Given the description of an element on the screen output the (x, y) to click on. 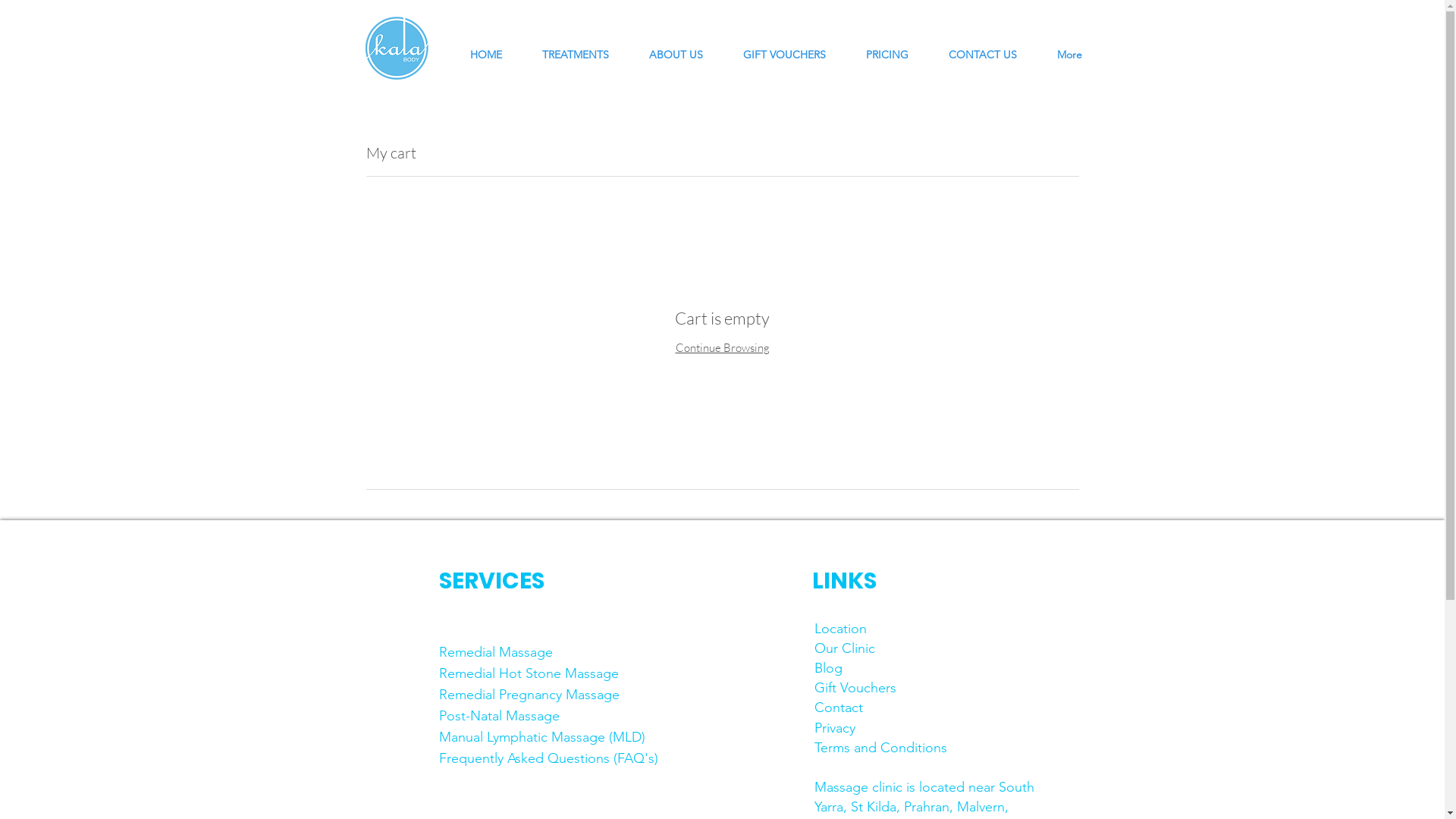
Remedial Massage Element type: text (495, 651)
CONTACT US Element type: text (974, 47)
Continue Browsing Element type: text (721, 347)
Gift Vouchers  Element type: text (857, 687)
Remedial Hot Stone Massage Element type: text (528, 673)
Manual Lymphatic Massage (MLD) Element type: text (541, 736)
Privacy Element type: text (834, 727)
HOME Element type: text (477, 47)
Frequently Asked Questions (FAQ's) Element type: text (547, 757)
Blog Element type: text (828, 667)
PRICING Element type: text (878, 47)
Terms and Conditions Element type: text (880, 747)
Our Clinic Element type: text (844, 648)
ABOUT US Element type: text (667, 47)
Location Element type: text (840, 628)
Contact Element type: text (838, 707)
Post-Natal Massage Element type: text (498, 715)
Remedial Pregnancy Massage Element type: text (528, 694)
GIFT VOUCHERS Element type: text (775, 47)
  Element type: text (901, 687)
